Given the description of an element on the screen output the (x, y) to click on. 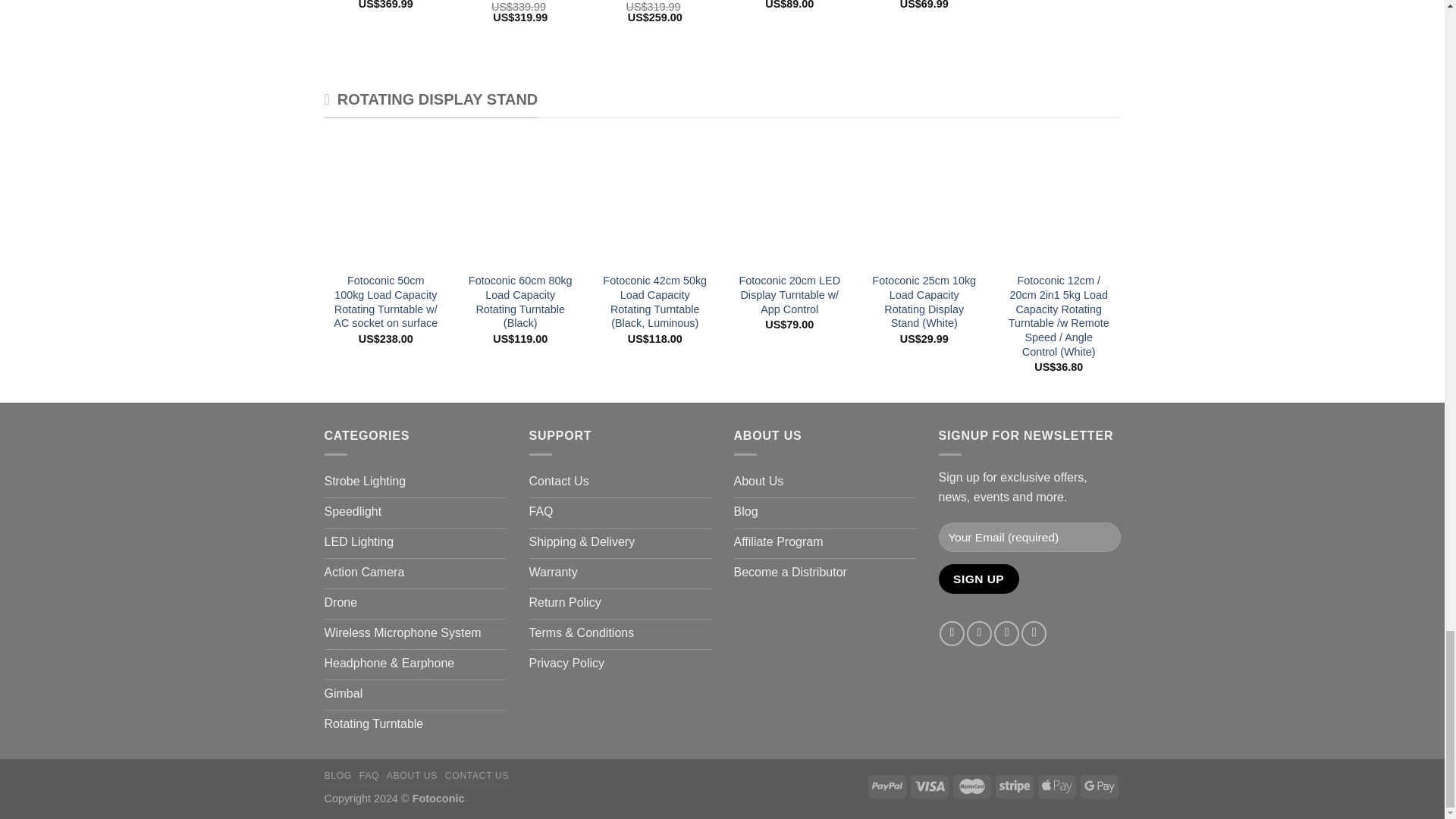
Sign Up (979, 578)
